Given the description of an element on the screen output the (x, y) to click on. 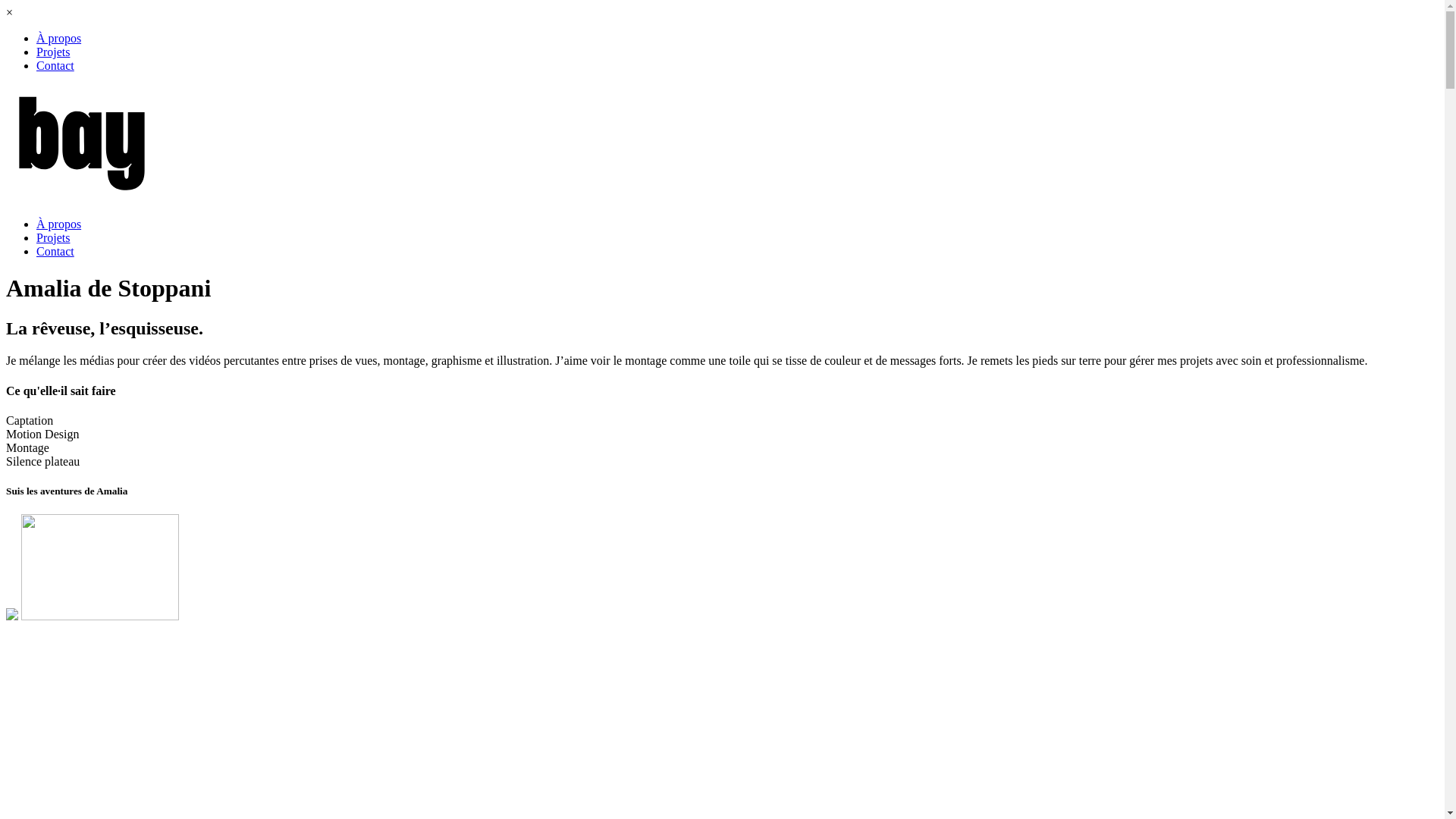
Les projets de Amalia Element type: text (85, 641)
Contact Element type: text (55, 250)
Contact Element type: text (55, 65)
Projets Element type: text (52, 237)
Projets Element type: text (52, 51)
